Given the description of an element on the screen output the (x, y) to click on. 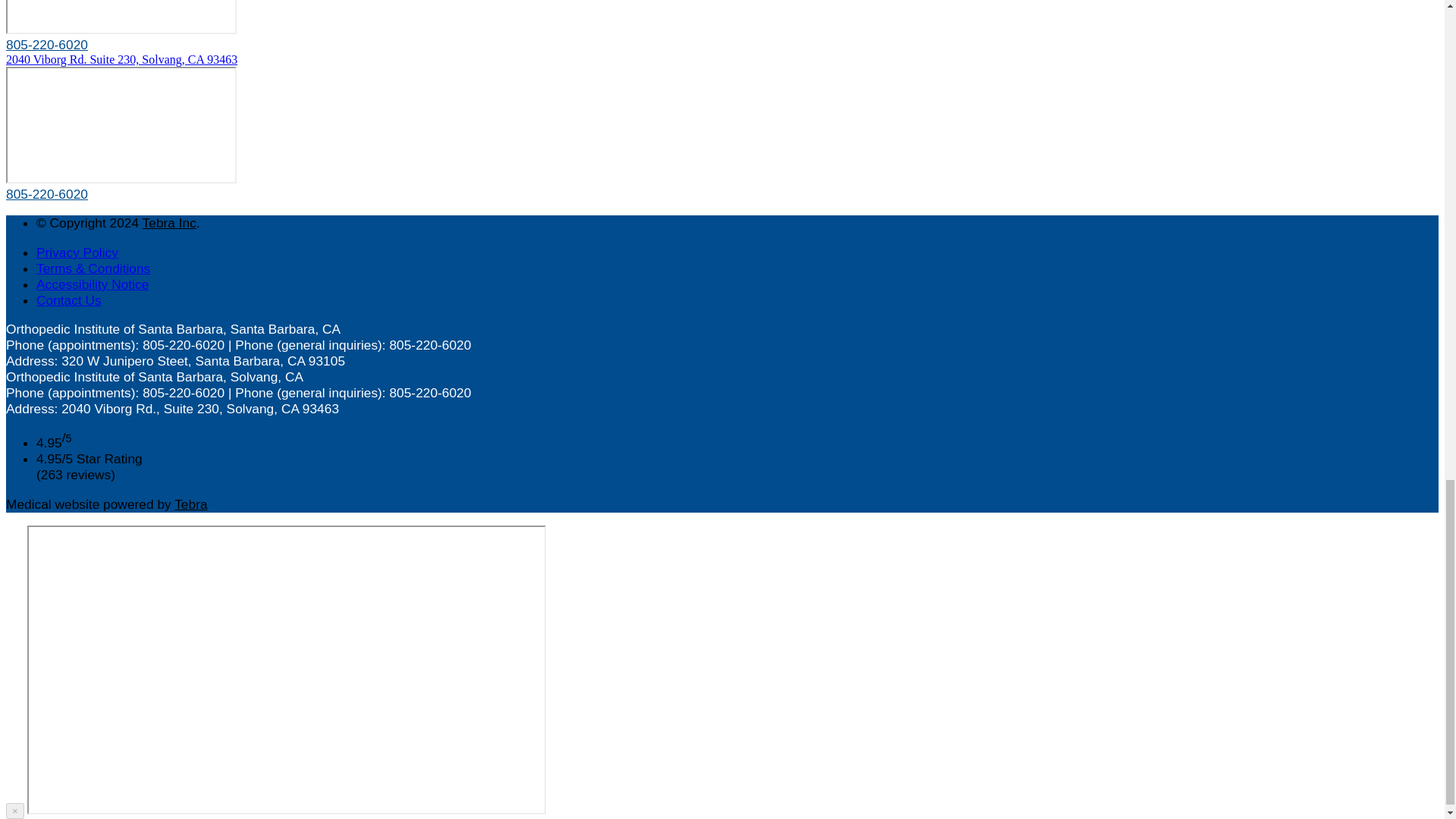
Map of Santa Barbara (120, 17)
Map of Solvang (120, 124)
